Given the description of an element on the screen output the (x, y) to click on. 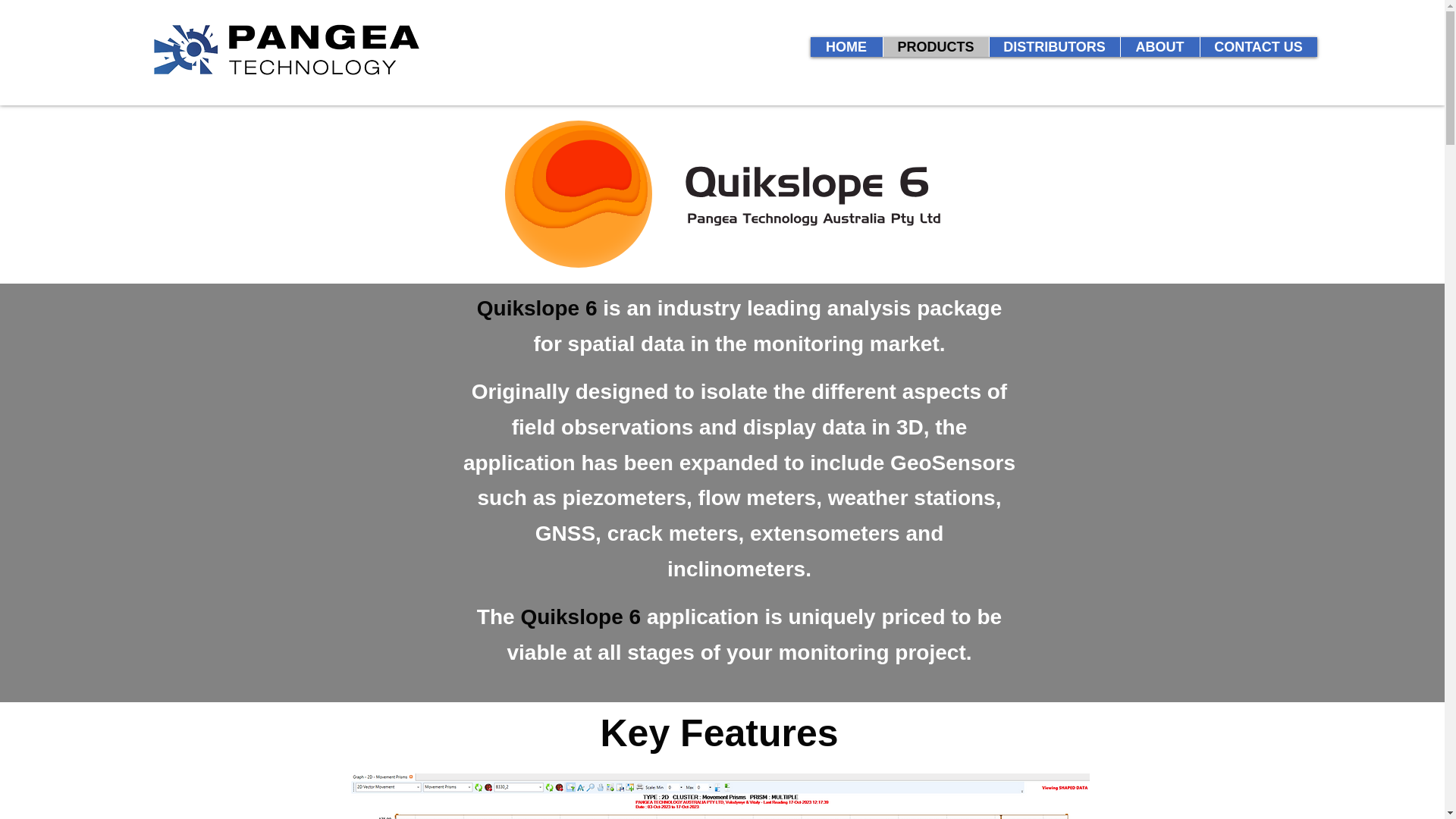
ABOUT (1158, 46)
PRODUCTS (935, 46)
CONTACT US (1258, 46)
HOME (845, 46)
DISTRIBUTORS (1053, 46)
